Given the description of an element on the screen output the (x, y) to click on. 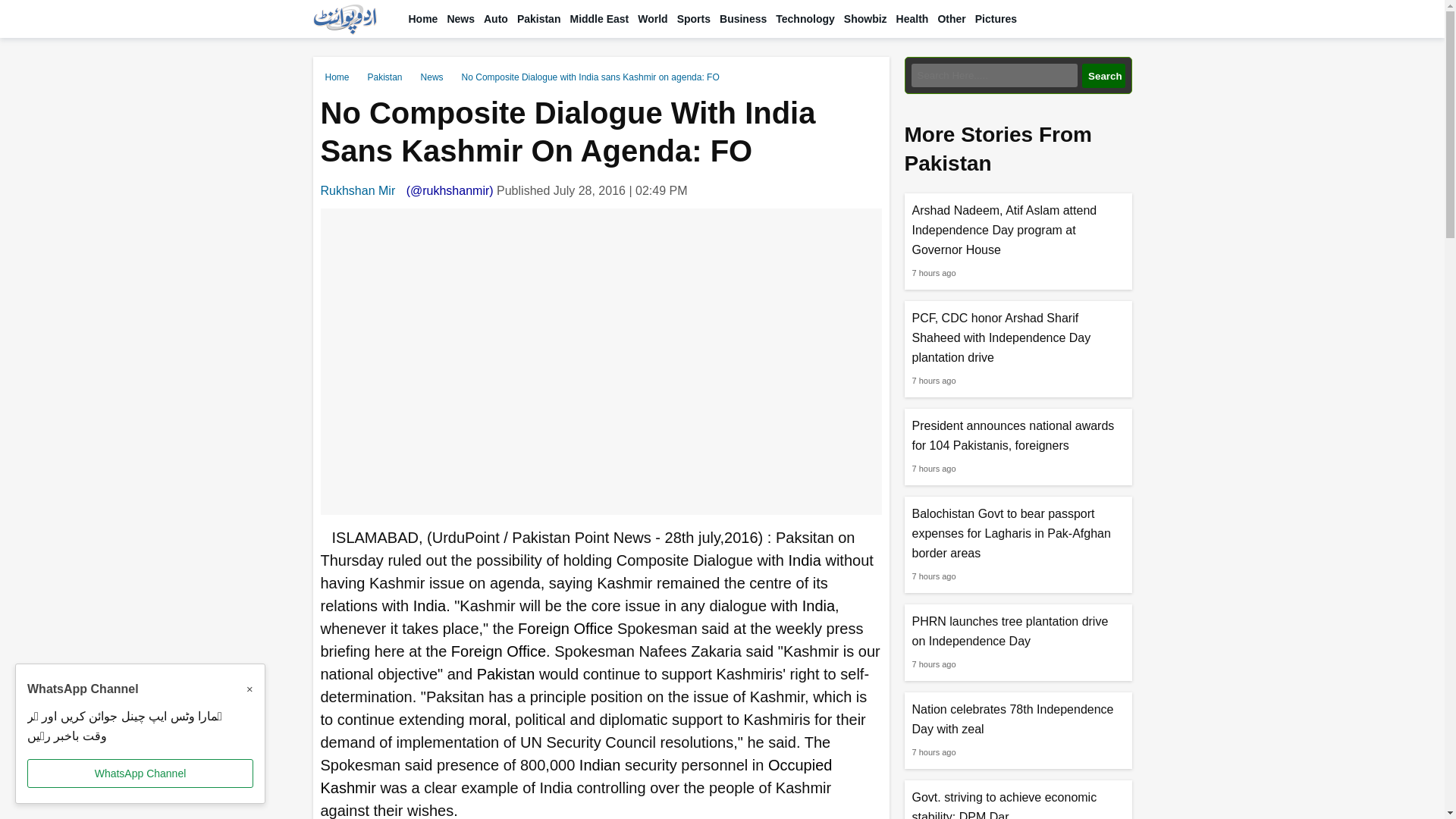
Pakistan News (539, 18)
Middle East (598, 18)
World (652, 18)
Business (742, 18)
Pakistan (539, 18)
News (460, 18)
Search (1102, 75)
English News Home (460, 18)
UrduPoint Home (422, 18)
Middle East News (598, 18)
